Given the description of an element on the screen output the (x, y) to click on. 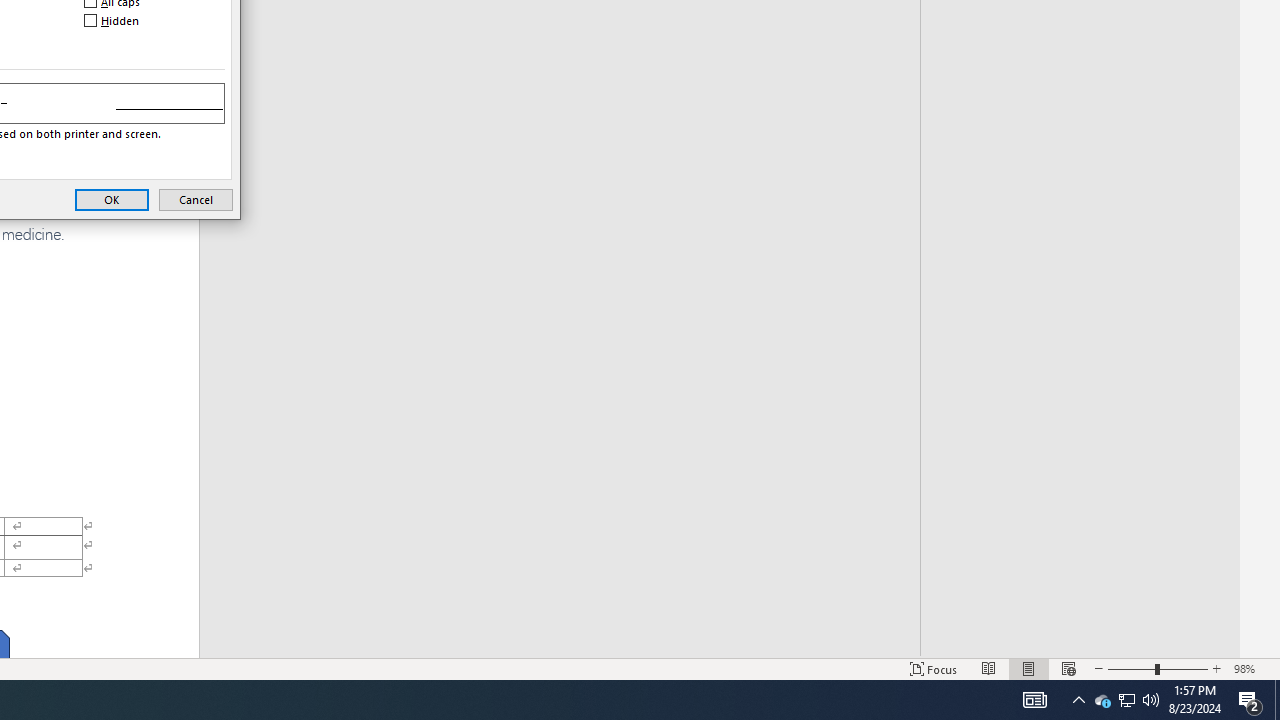
Cancel (195, 199)
Zoom Out (1131, 668)
Q2790: 100% (1151, 699)
Action Center, 2 new notifications (1250, 699)
